Given the description of an element on the screen output the (x, y) to click on. 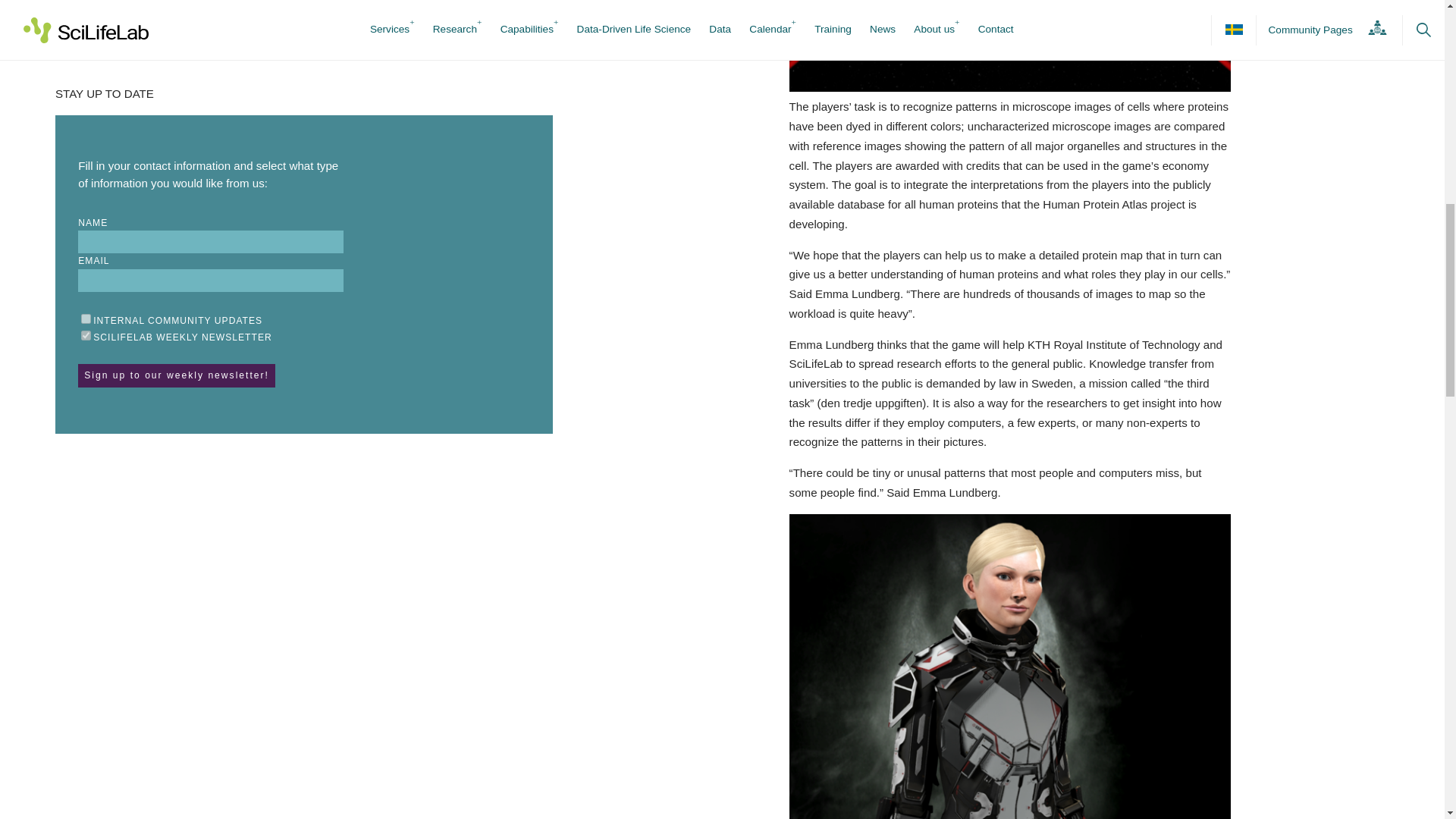
2605523 (85, 335)
Sign up to our weekly newsletter! (176, 375)
Sign up to our weekly newsletter! (176, 375)
2605548 (85, 318)
